Given the description of an element on the screen output the (x, y) to click on. 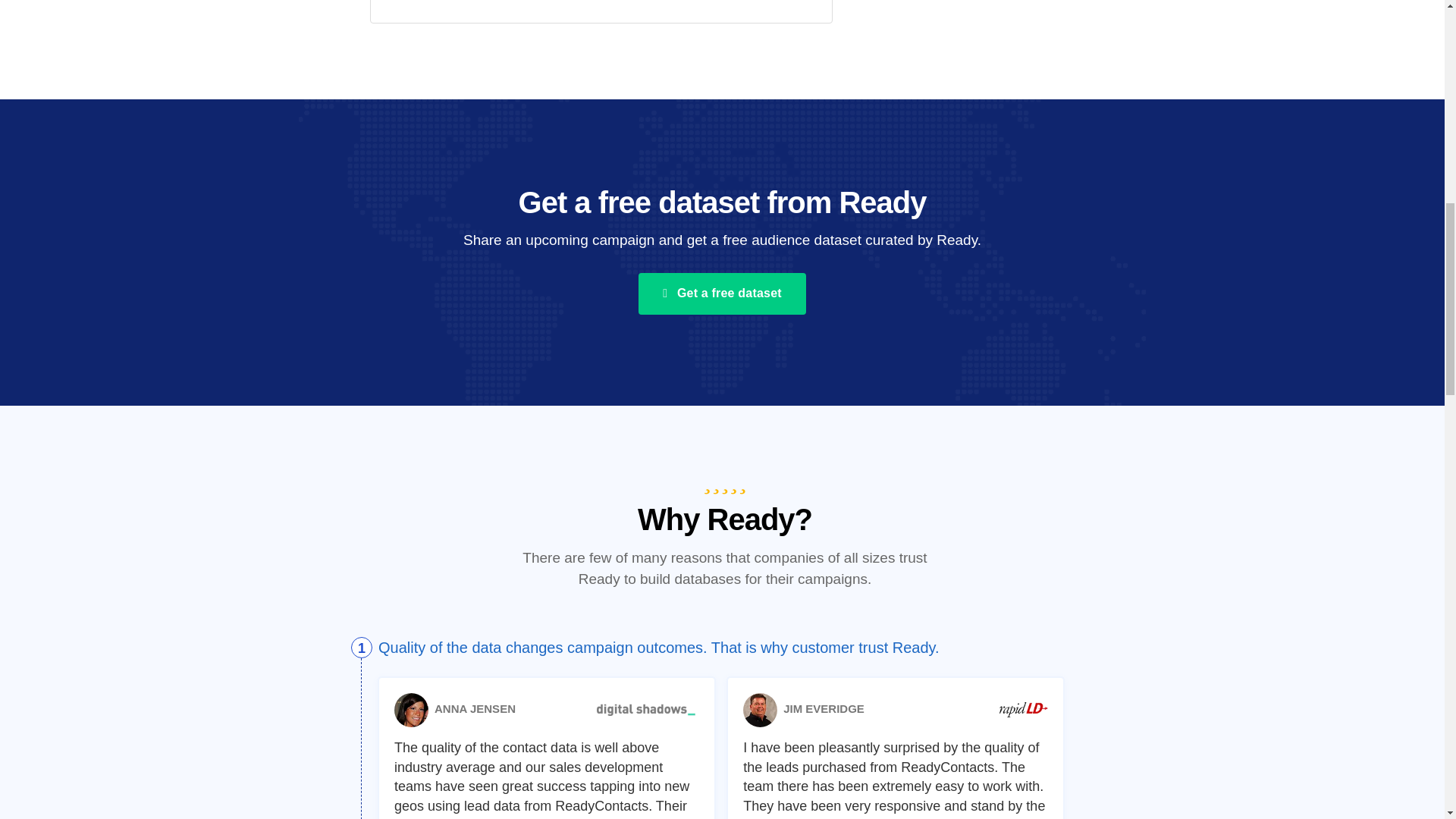
Get a free dataset (722, 293)
